Given the description of an element on the screen output the (x, y) to click on. 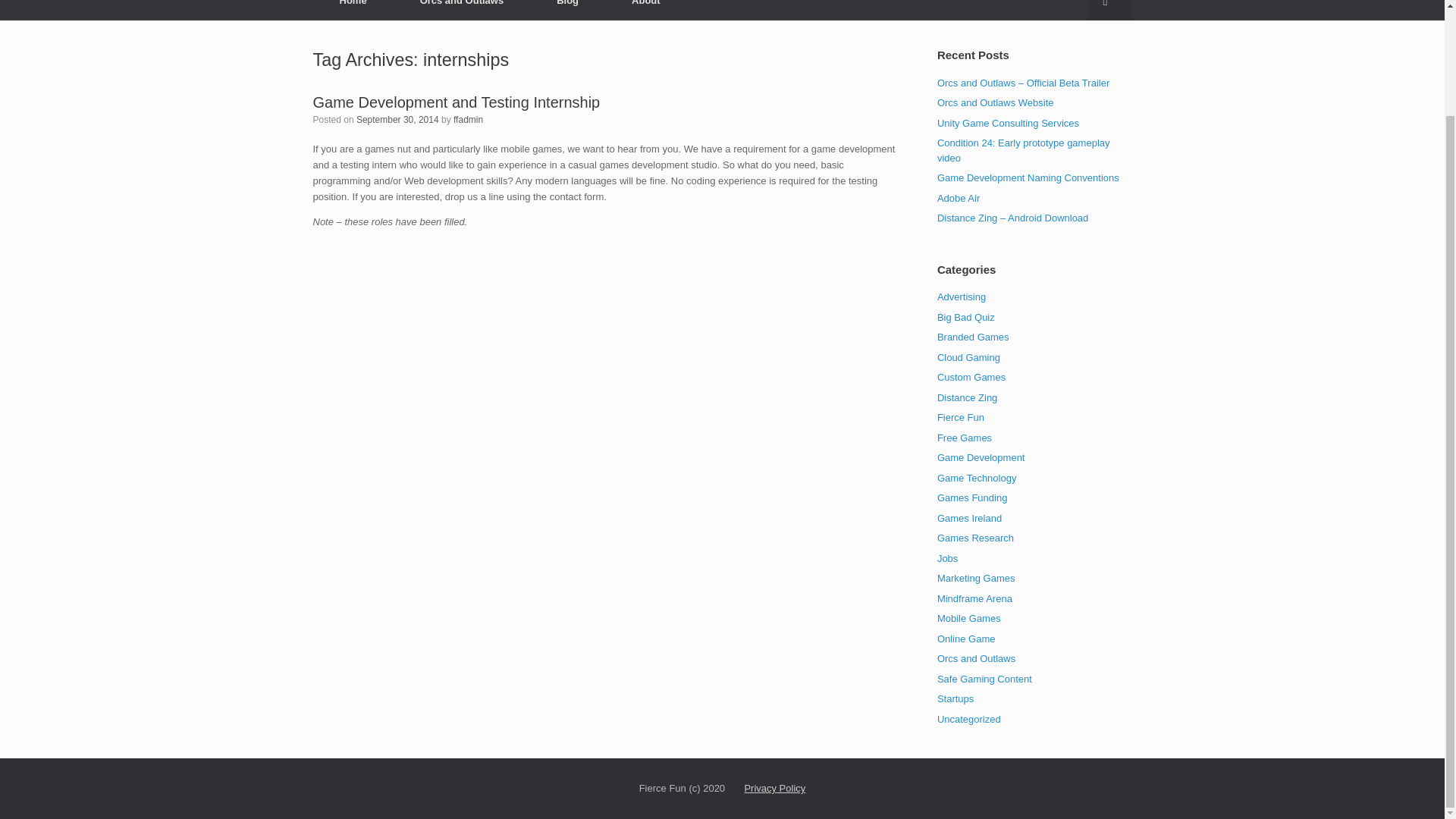
Orcs and Outlaws (462, 10)
Games Research (975, 537)
Cloud Gaming (968, 357)
Distance Zing (967, 396)
Game Development (981, 457)
Big Bad Quiz (965, 316)
Unity Game Consulting Services (1007, 122)
Game Development Naming Conventions (1028, 177)
September 30, 2014 (397, 119)
Jobs (947, 557)
About (646, 10)
Mindframe Arena (974, 598)
Permalink to Game Development and Testing Internship (456, 102)
Advertising (961, 296)
Mobile Games (969, 618)
